Given the description of an element on the screen output the (x, y) to click on. 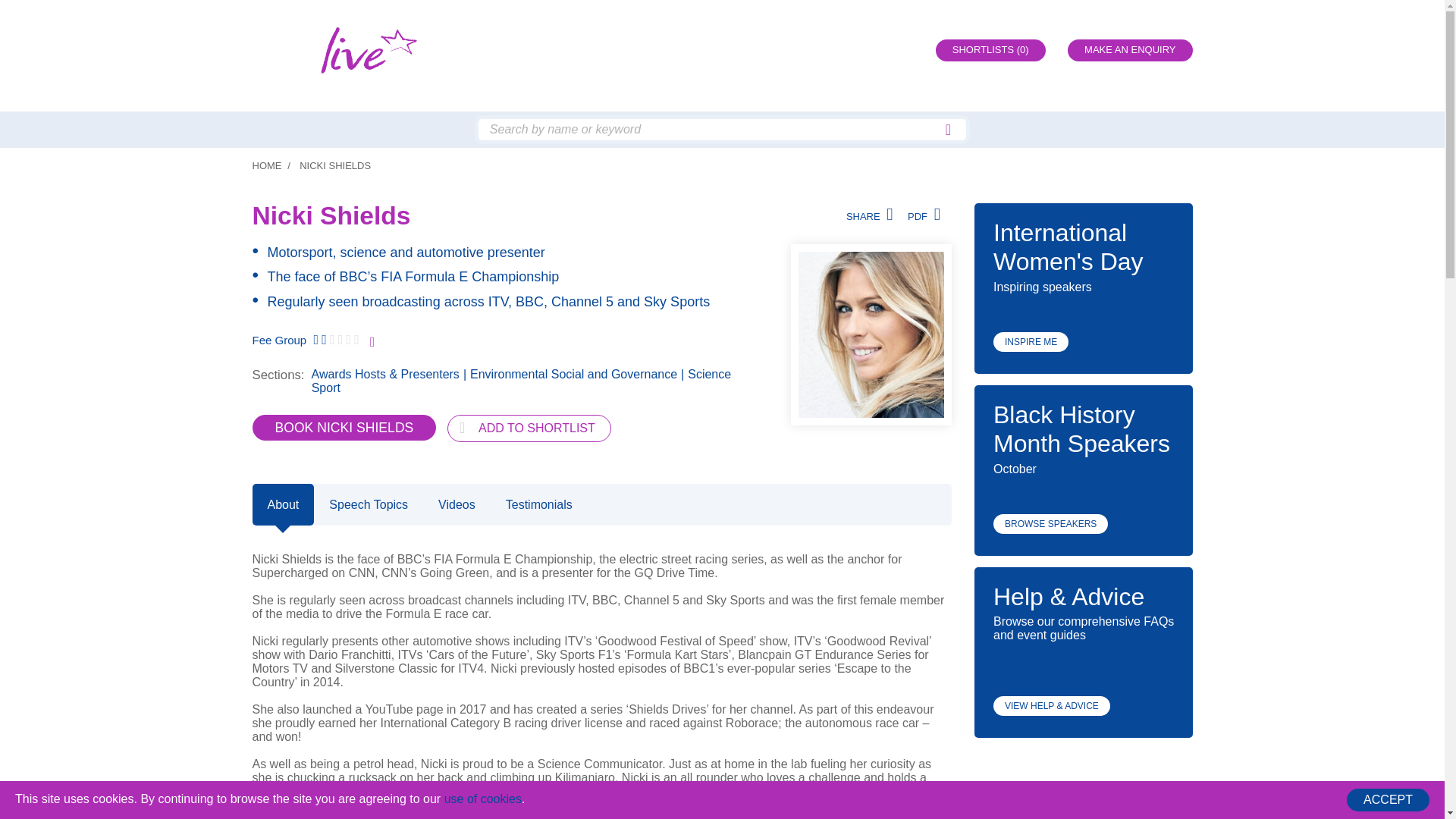
Testimonials (539, 504)
Videos (456, 504)
About (282, 504)
Speech Topics (368, 504)
